Given the description of an element on the screen output the (x, y) to click on. 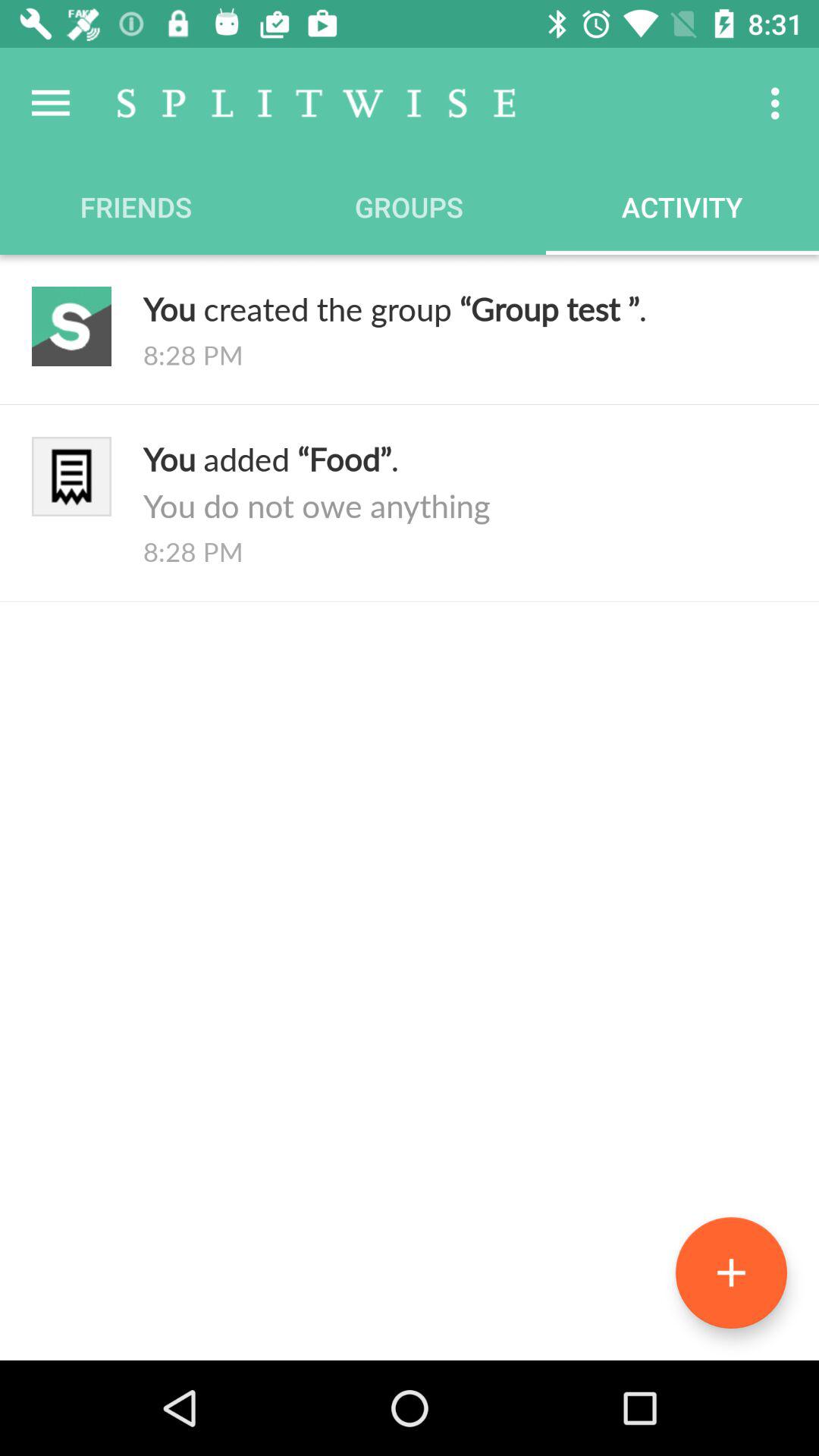
click the icon above the 8:28 pm (465, 308)
